Given the description of an element on the screen output the (x, y) to click on. 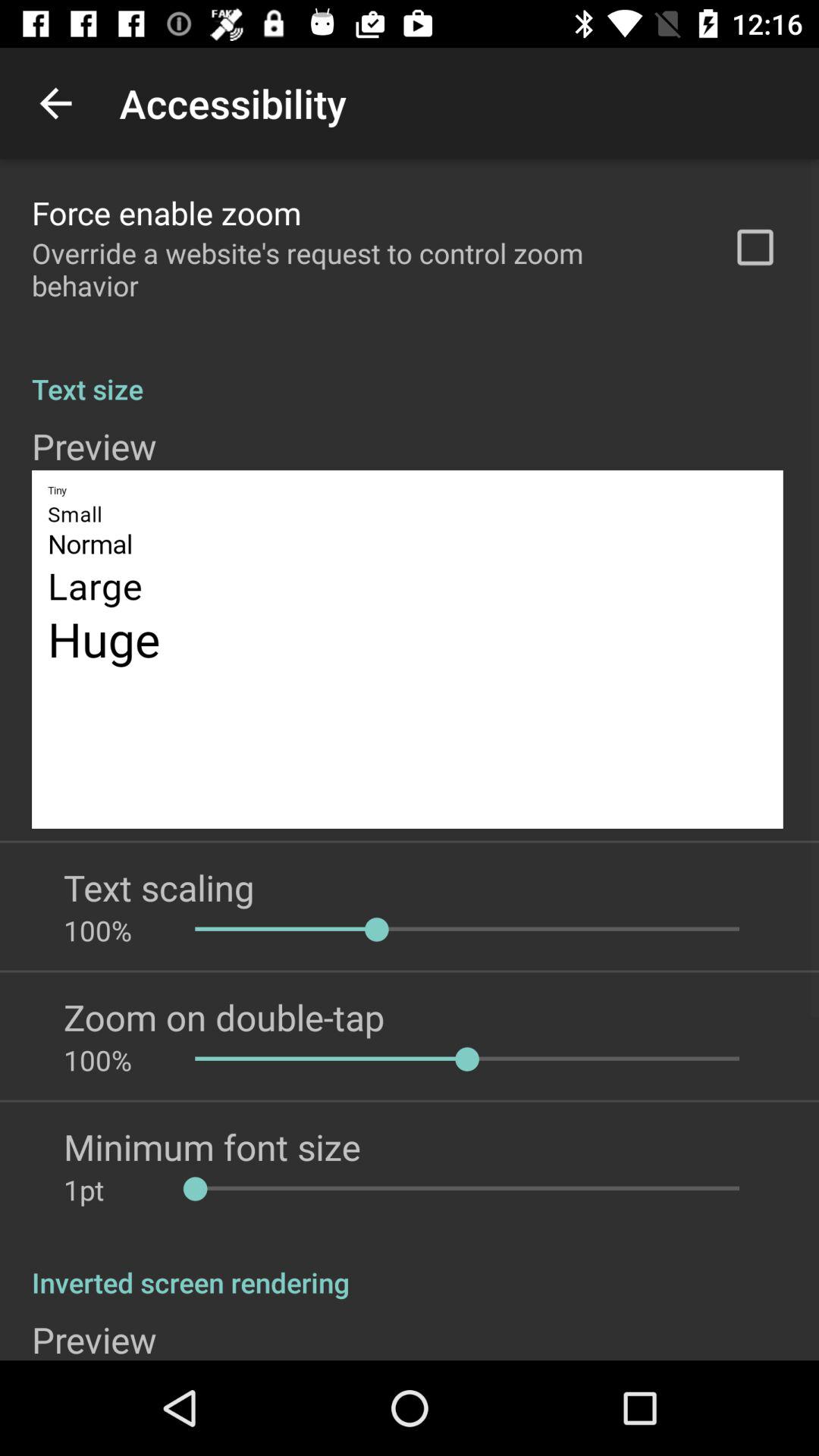
turn off override a website item (361, 269)
